Given the description of an element on the screen output the (x, y) to click on. 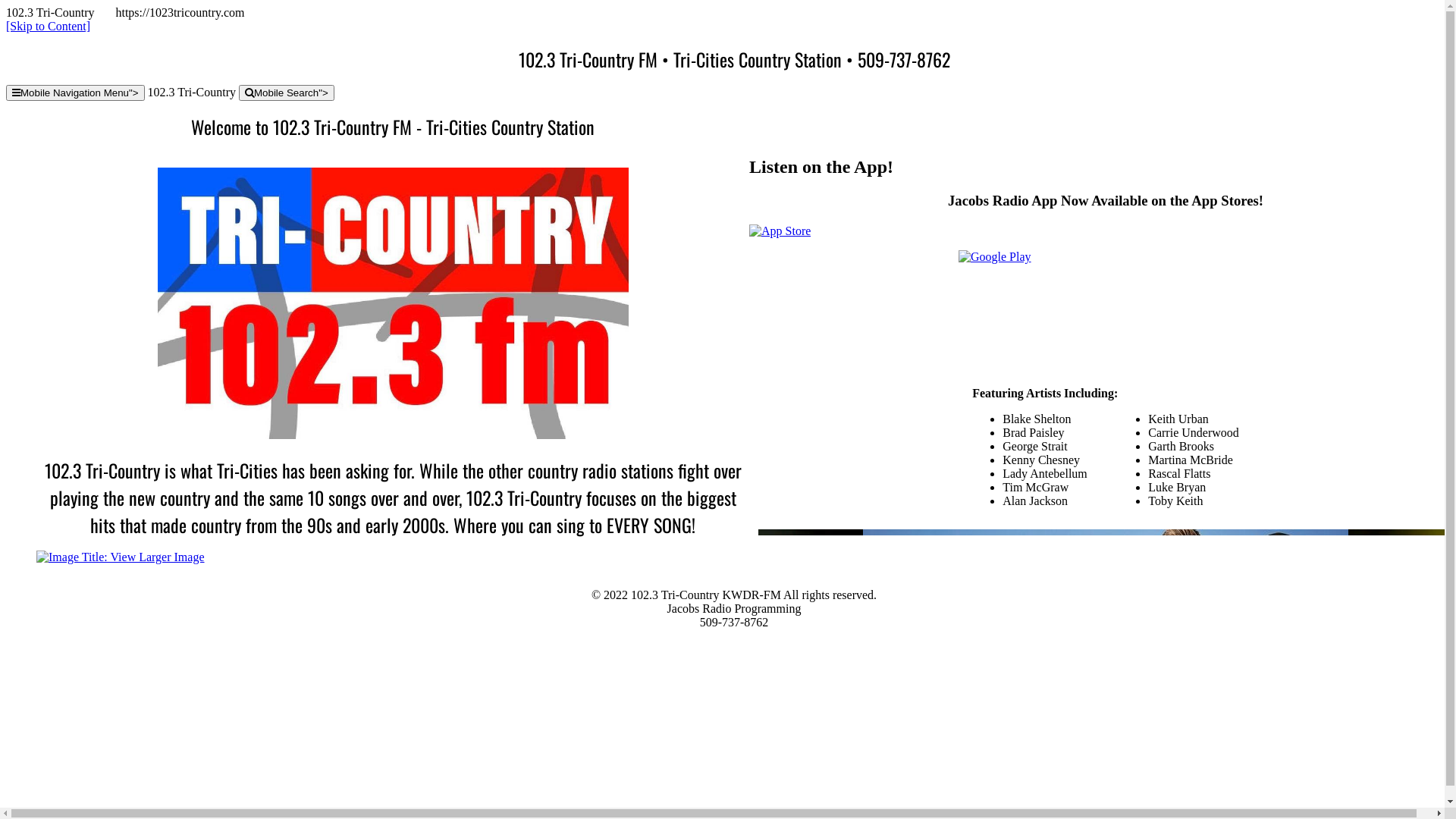
Mobile Search"> Element type: text (286, 92)
[Skip to Content] Element type: text (48, 25)
Mobile Navigation Menu"> Element type: text (75, 92)
App Store Element type: hover (779, 231)
View Larger Image Element type: hover (120, 556)
Logo Element type: hover (392, 303)
Google Play Element type: hover (1105, 299)
Download on the App Store Element type: hover (779, 229)
